Given the description of an element on the screen output the (x, y) to click on. 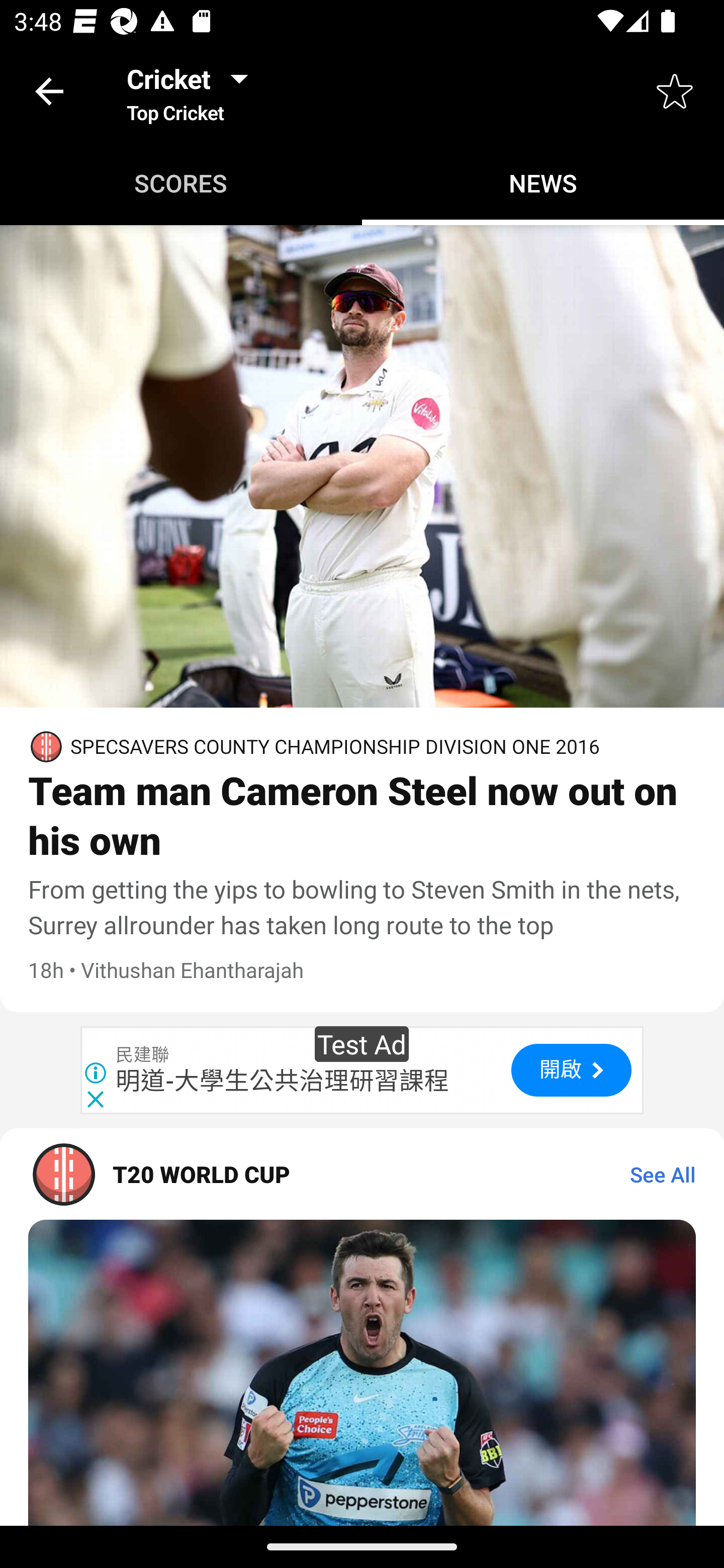
Cricket Top Cricket (193, 90)
Favorite toggle (674, 90)
Scores SCORES (181, 183)
T20 WORLD CUP See All (362, 1173)
